Given the description of an element on the screen output the (x, y) to click on. 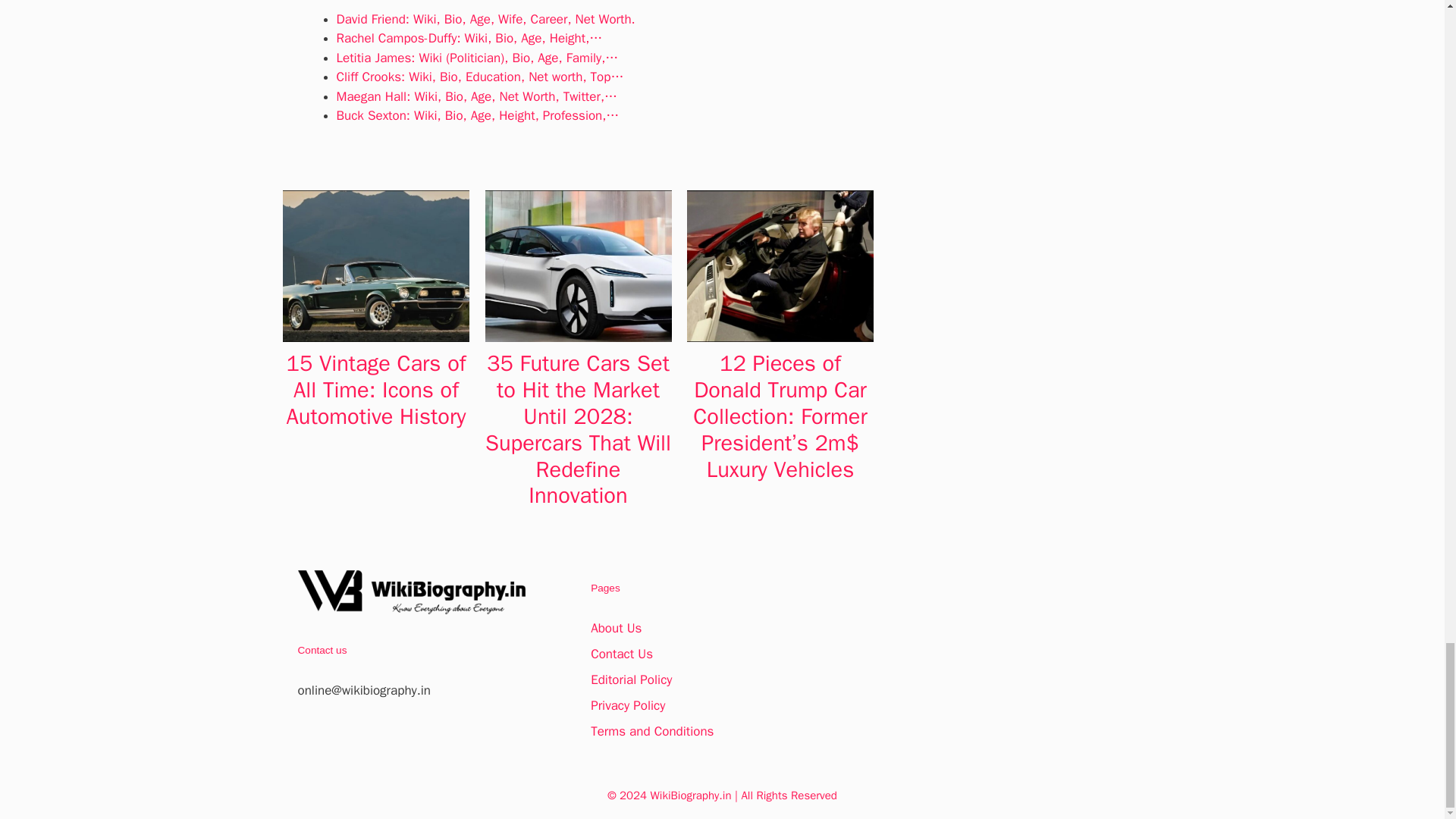
David Friend: Wiki, Bio, Age, Wife, Career, Net Worth. (485, 19)
15 Vintage Cars of All Time: Icons of Automotive History (375, 389)
